Given the description of an element on the screen output the (x, y) to click on. 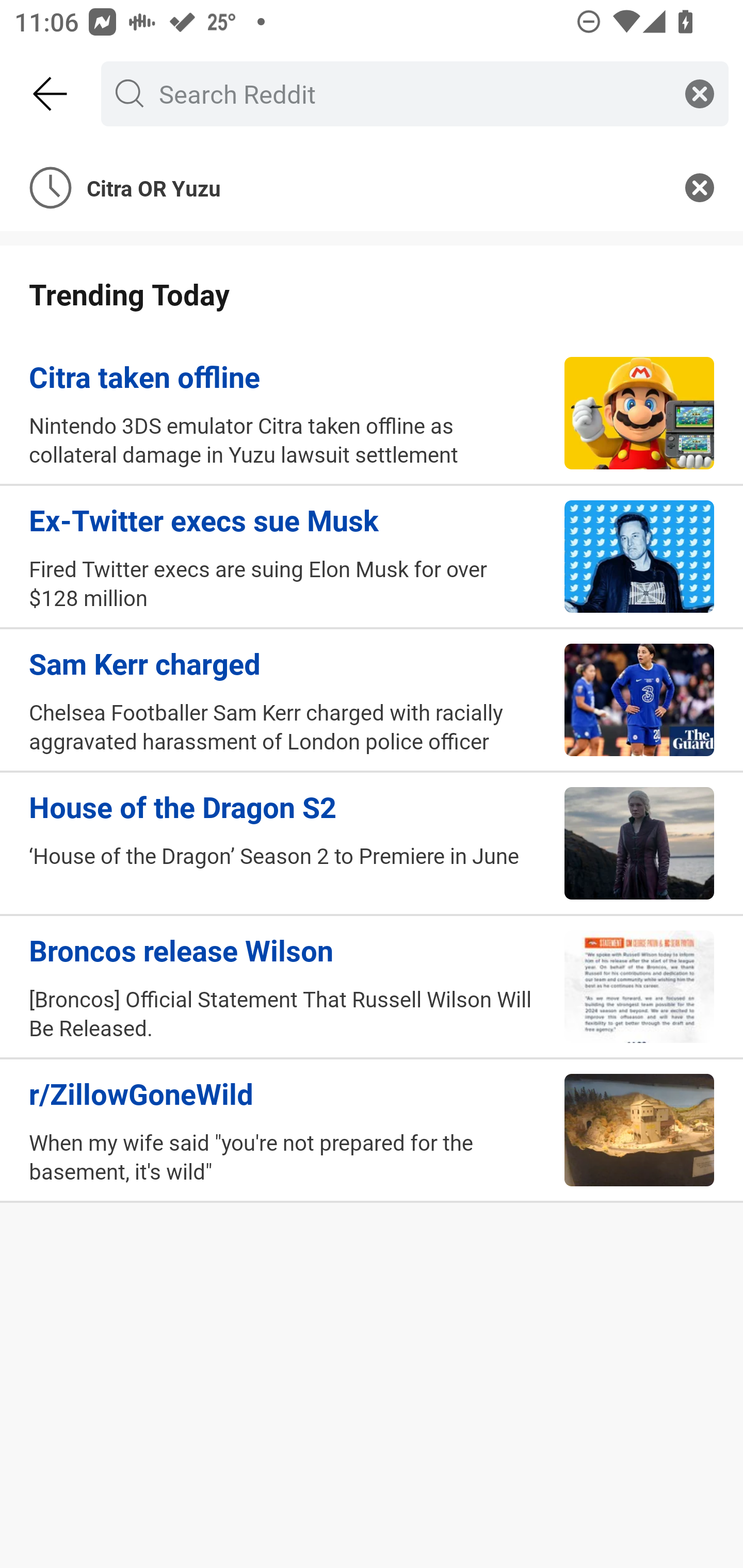
Back (50, 93)
Search Reddit (410, 93)
Clear search (699, 93)
Citra OR Yuzu Recent search: Citra OR Yuzu Remove (371, 187)
Remove (699, 187)
